Given the description of an element on the screen output the (x, y) to click on. 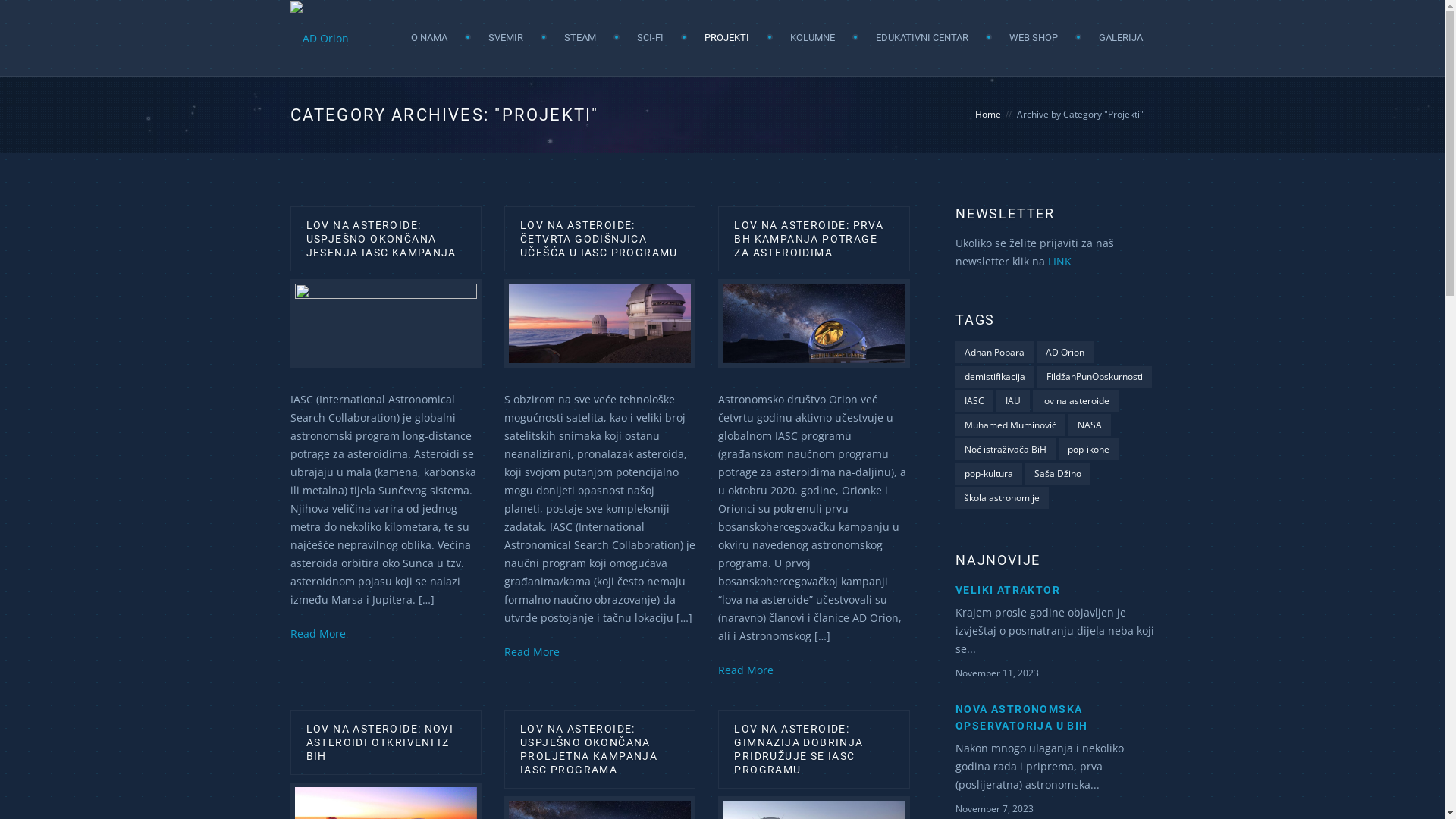
SVEMIR Element type: text (505, 37)
Home Element type: text (988, 113)
AD Orion Element type: text (1064, 352)
IASC Element type: text (974, 400)
Read More Element type: text (745, 669)
EDUKATIVNI CENTAR Element type: text (920, 37)
WEB SHOP Element type: text (1032, 37)
NOVA ASTRONOMSKA OPSERVATORIJA U BIH Element type: text (1021, 716)
pop-ikone Element type: text (1088, 449)
LOV NA ASTEROIDE: PRVA BH KAMPANJA POTRAGE ZA ASTEROIDIMA Element type: text (808, 237)
LINK Element type: text (1059, 261)
LOV NA ASTEROIDE: NOVI ASTEROIDI OTKRIVENI IZ BIH Element type: text (380, 742)
VELIKI ATRAKTOR Element type: text (1007, 589)
pop-kultura Element type: text (988, 473)
demistifikacija Element type: text (994, 376)
SCI-FI Element type: text (649, 37)
Read More Element type: text (531, 651)
GALERIJA Element type: text (1119, 37)
Adnan Popara Element type: text (994, 352)
KOLUMNE Element type: text (812, 37)
O NAMA Element type: text (428, 37)
NASA Element type: text (1089, 425)
IAU Element type: text (1012, 400)
STEAM Element type: text (580, 37)
Read More Element type: text (317, 633)
PROJEKTI Element type: text (725, 37)
lov na asteroide Element type: text (1075, 400)
